Given the description of an element on the screen output the (x, y) to click on. 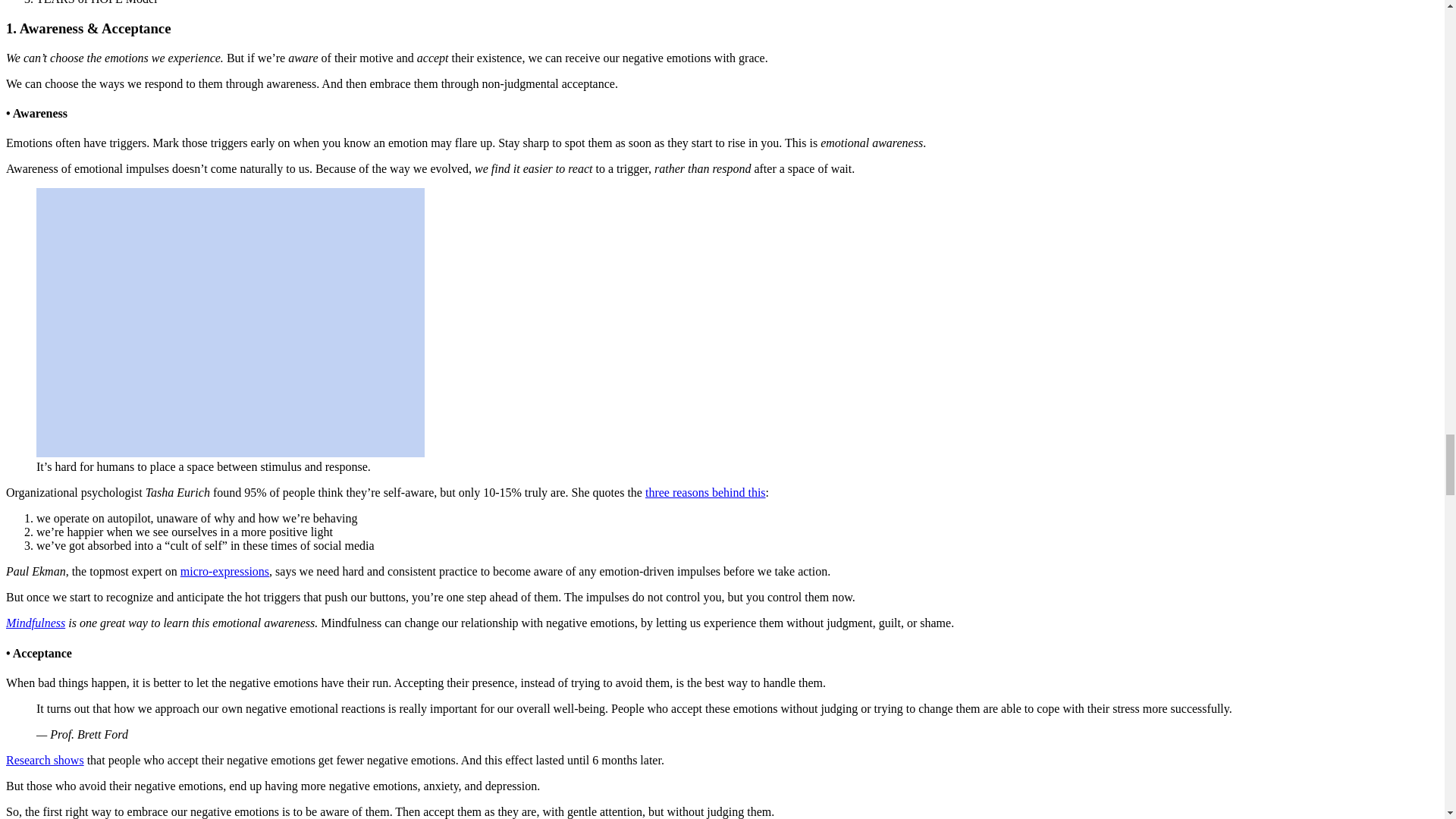
Mindfulness (35, 622)
three reasons behind this (705, 492)
Research shows (44, 759)
micro-expressions (224, 571)
